Given the description of an element on the screen output the (x, y) to click on. 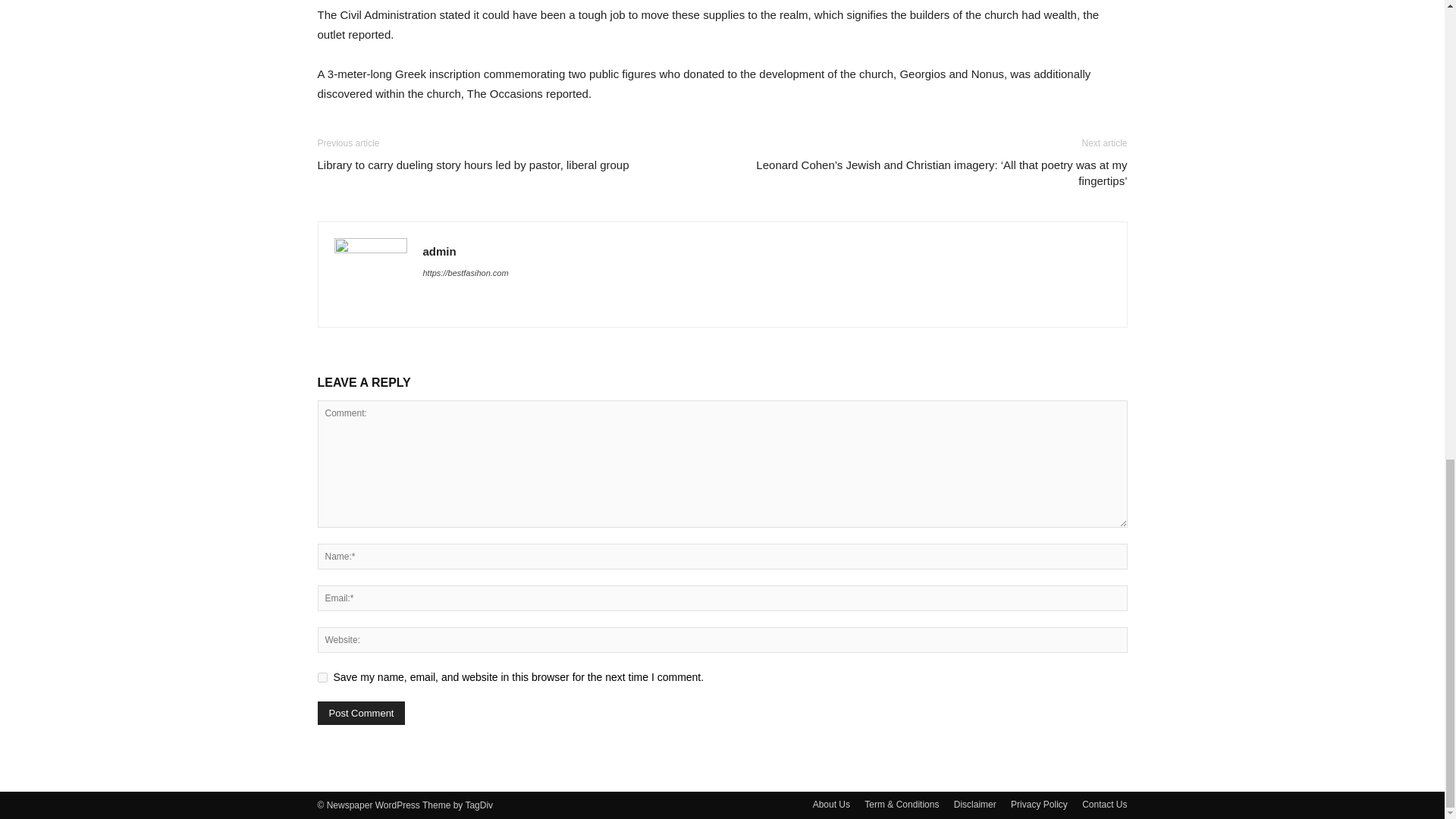
admin (440, 250)
yes (321, 677)
Post Comment (360, 712)
